Given the description of an element on the screen output the (x, y) to click on. 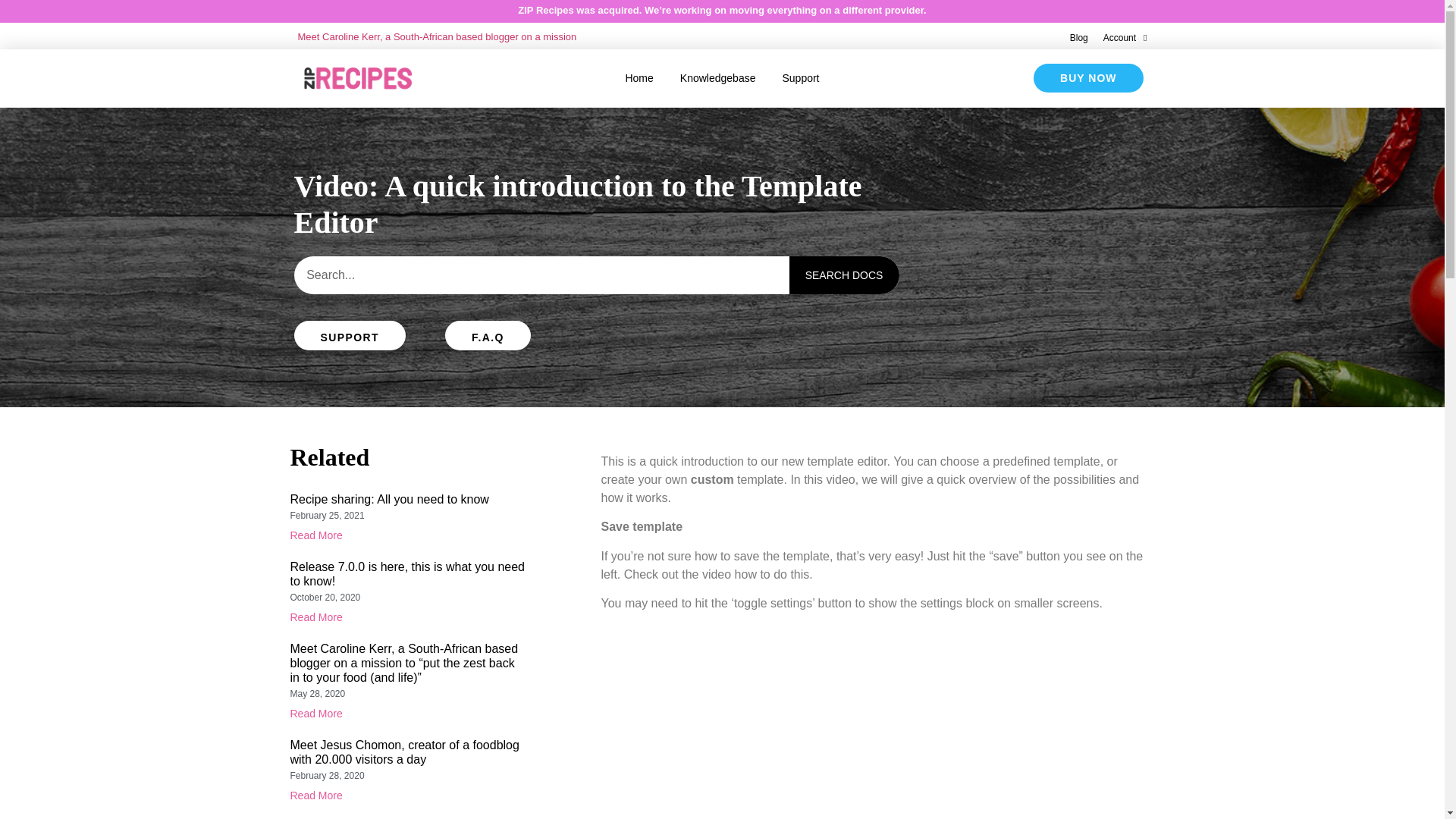
Read More (315, 713)
Read More (315, 535)
Account (1125, 37)
Knowledgebase (717, 78)
Recipe sharing: All you need to know (388, 499)
Blog (1078, 37)
Release 7.0.0 is here, this is what you need to know! (406, 574)
Read More (315, 616)
F.A.Q (488, 335)
Support (800, 78)
BUY NOW (1087, 77)
SEARCH DOCS (843, 275)
SUPPORT (350, 335)
